Given the description of an element on the screen output the (x, y) to click on. 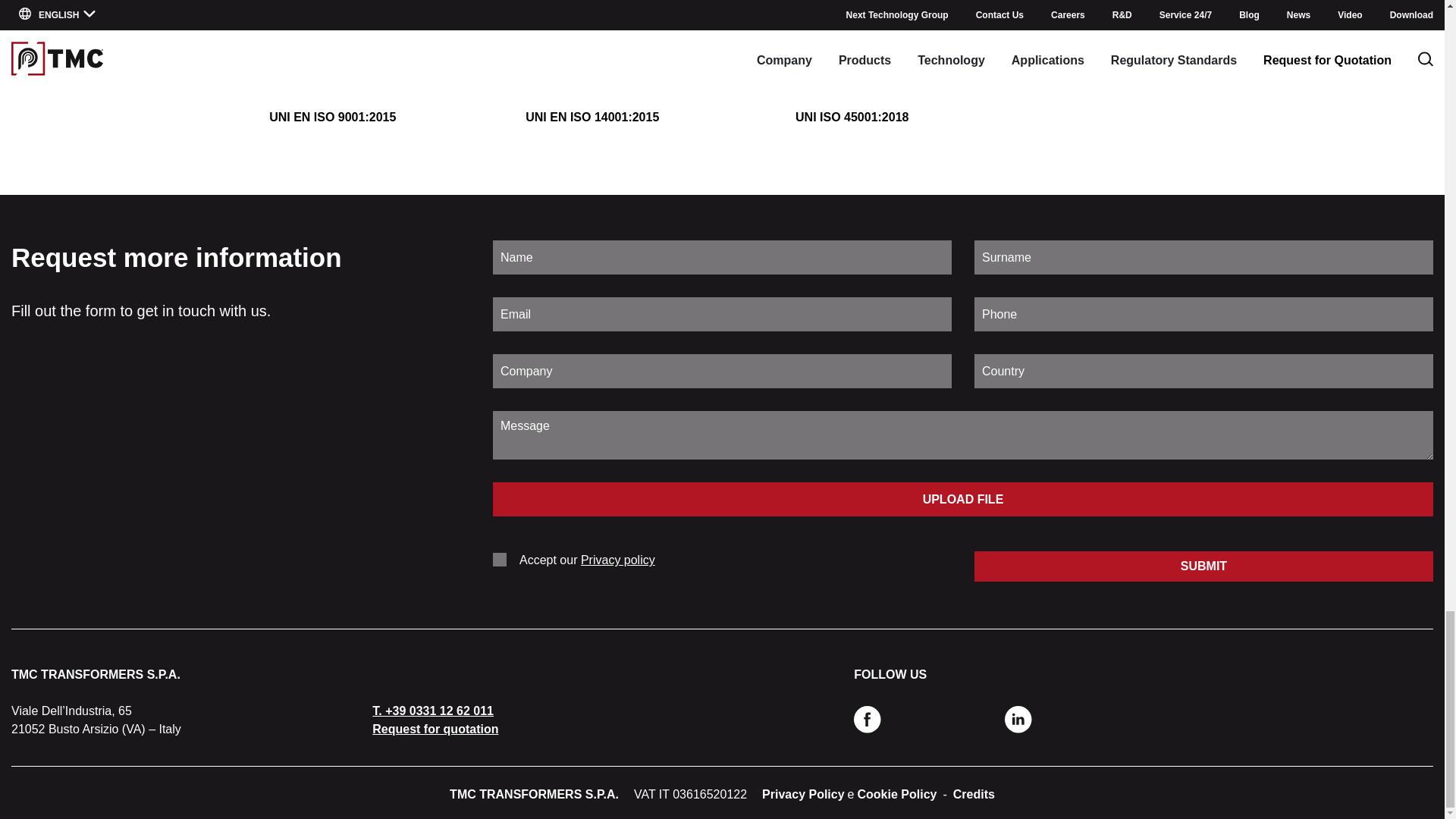
Cookie Policy  (897, 794)
UNI EN ISO 9001:2015 (332, 70)
UNI ISO 45001:2018 (852, 70)
Cookie Policy (897, 794)
UNI EN ISO 14001:2015 (592, 70)
Privacy Policy  (802, 794)
SUBMIT (1203, 566)
Privacy Policy  (617, 559)
Privacy Policy (802, 794)
Request for quotation (434, 728)
